Given the description of an element on the screen output the (x, y) to click on. 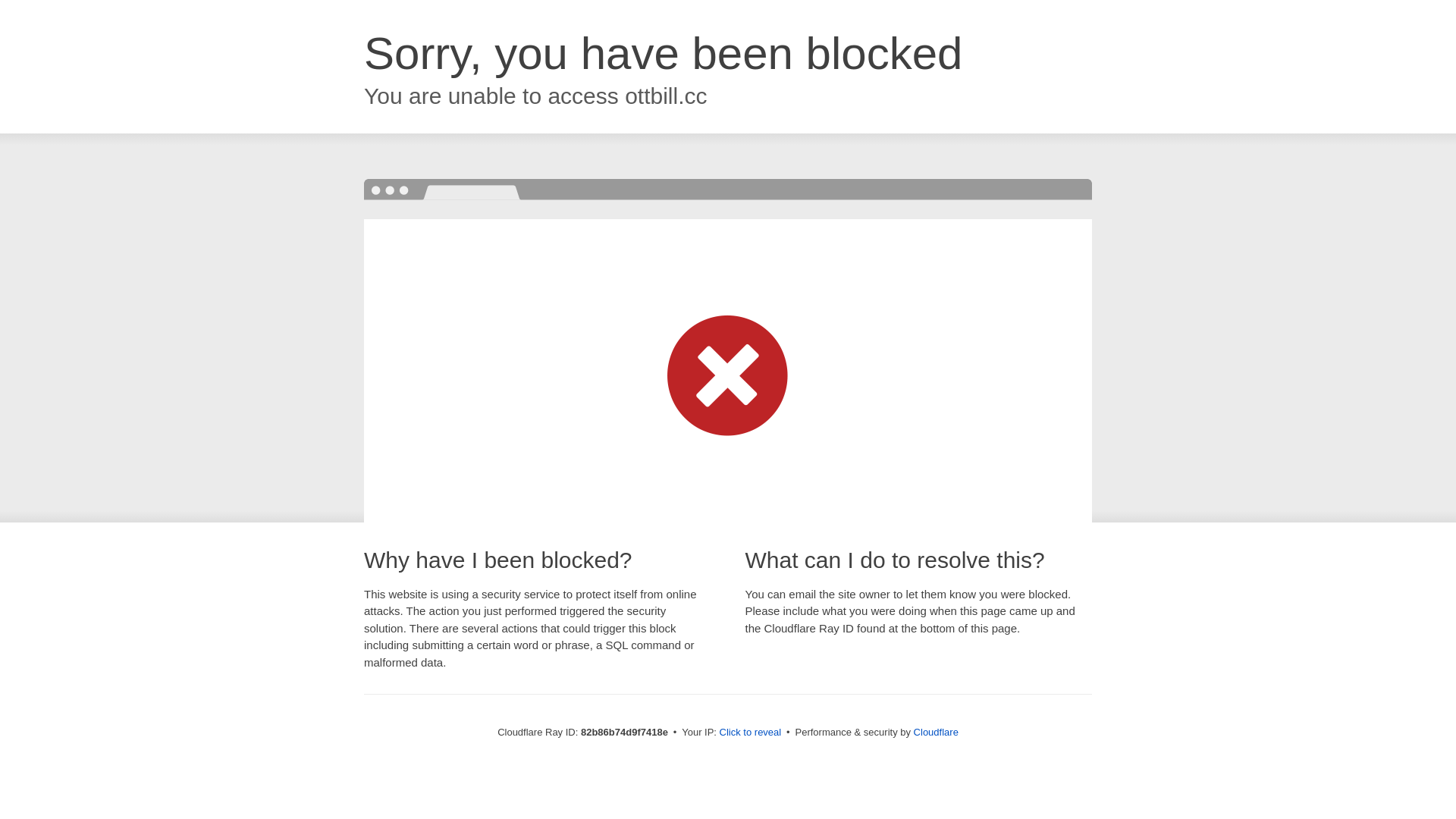
Cloudflare Element type: text (935, 731)
Click to reveal Element type: text (750, 732)
